Given the description of an element on the screen output the (x, y) to click on. 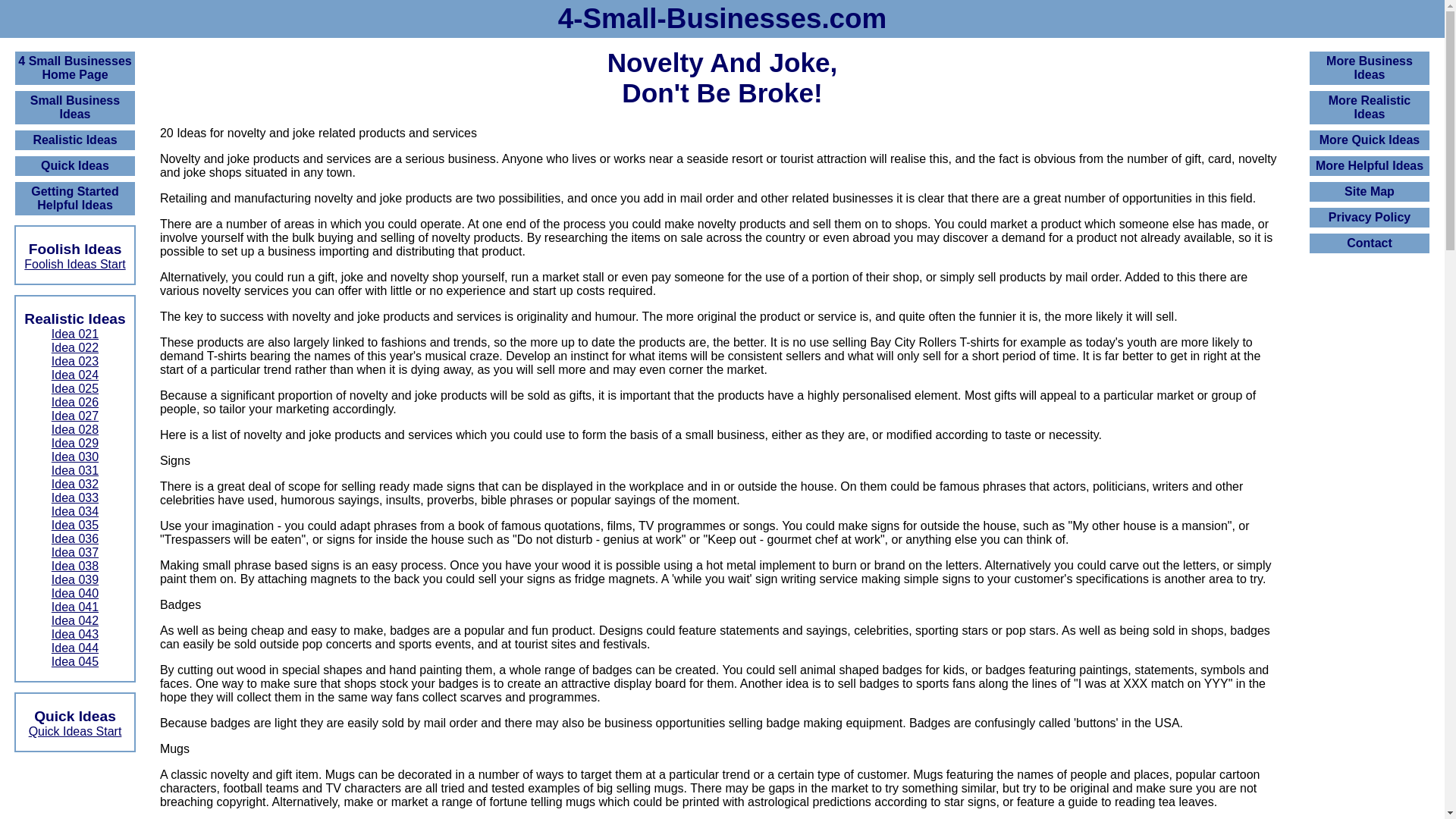
More Realistic Ideas Element type: text (1369, 107)
Idea 035 Element type: text (74, 524)
Idea 026 Element type: text (74, 401)
Idea 021 Element type: text (74, 333)
Idea 030 Element type: text (74, 456)
More Helpful Ideas Element type: text (1369, 165)
Idea 031 Element type: text (74, 470)
Quick Ideas Start Element type: text (75, 730)
Contact Element type: text (1369, 243)
Idea 041 Element type: text (74, 606)
Advertisement Element type: hover (1369, 492)
More Quick Ideas Element type: text (1369, 140)
Idea 044 Element type: text (74, 647)
Idea 037 Element type: text (74, 552)
Idea 025 Element type: text (74, 388)
Idea 042 Element type: text (74, 620)
4 Small Businesses
Home Page Element type: text (74, 67)
Realistic Ideas Element type: text (74, 140)
Idea 023 Element type: text (74, 360)
Idea 028 Element type: text (74, 429)
Getting Started Helpful Ideas Element type: text (74, 198)
Idea 040 Element type: text (74, 592)
Privacy Policy Element type: text (1369, 217)
Idea 033 Element type: text (74, 497)
Idea 032 Element type: text (74, 483)
More Business Ideas Element type: text (1369, 67)
Idea 029 Element type: text (74, 442)
Small Business Ideas Element type: text (74, 107)
Idea 038 Element type: text (74, 565)
Idea 034 Element type: text (74, 511)
Idea 039 Element type: text (74, 579)
Idea 022 Element type: text (74, 347)
Quick Ideas Element type: text (74, 165)
Idea 043 Element type: text (74, 633)
Site Map Element type: text (1369, 191)
Idea 045 Element type: text (74, 661)
Idea 024 Element type: text (74, 374)
Idea 027 Element type: text (74, 415)
Idea 036 Element type: text (74, 538)
Foolish Ideas Start Element type: text (74, 263)
